Given the description of an element on the screen output the (x, y) to click on. 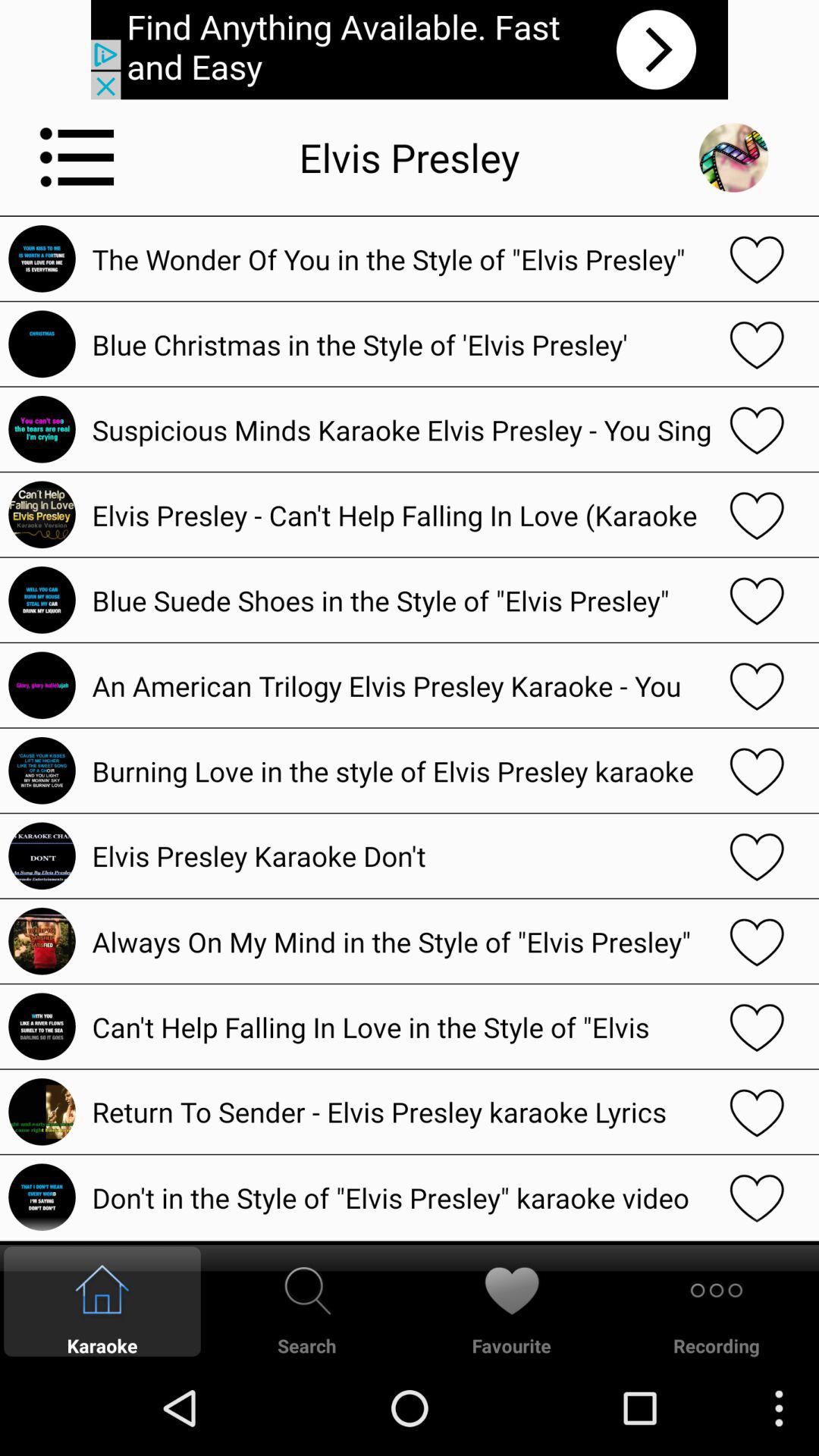
love selection (756, 258)
